Given the description of an element on the screen output the (x, y) to click on. 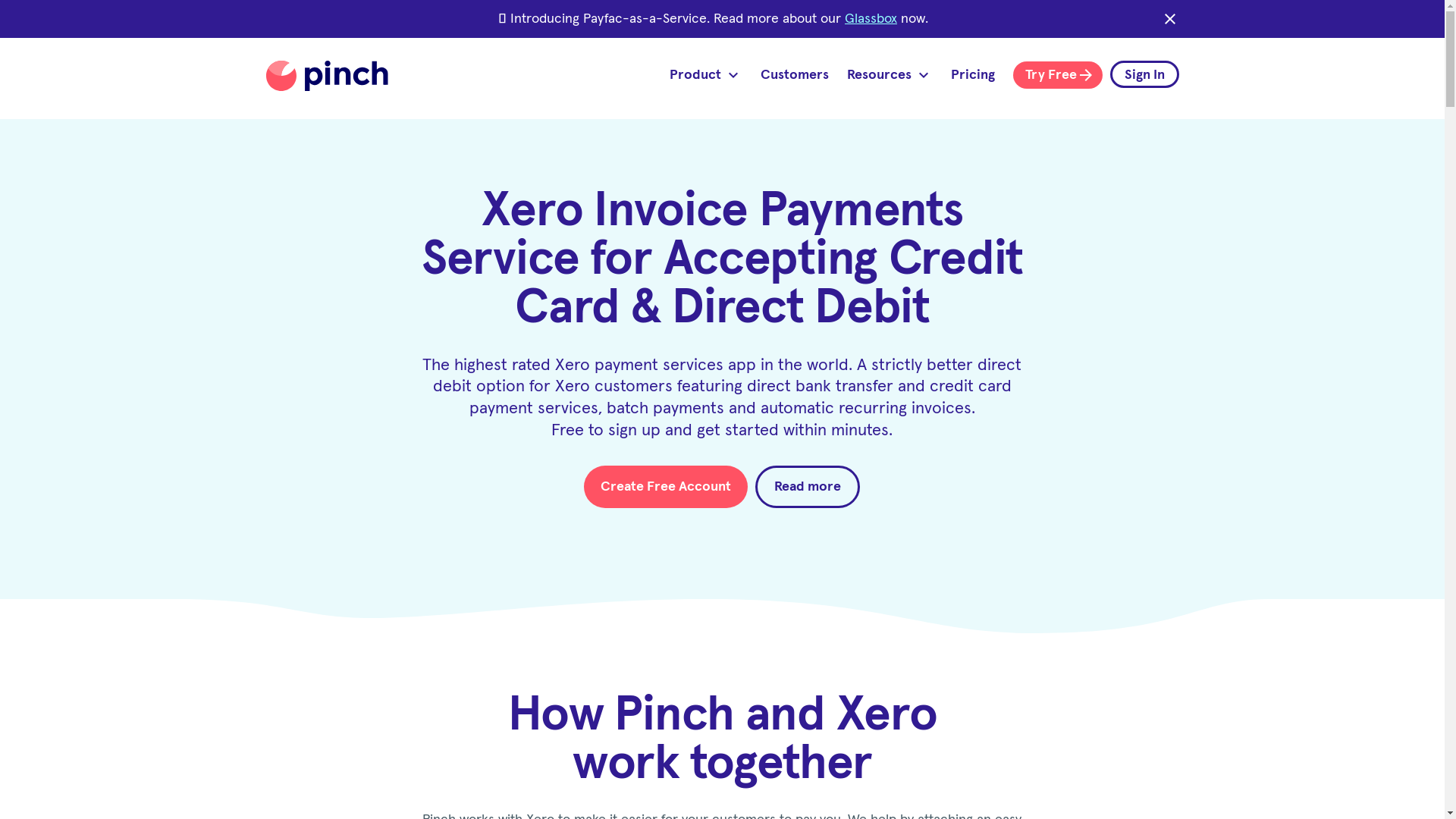
Create Free Account Element type: text (665, 486)
Sign In Element type: text (1144, 73)
Resources expand_more Element type: text (888, 74)
Pricing Element type: text (972, 74)
Read more Element type: text (807, 486)
Try Free
arrow_forward Element type: text (1057, 74)
Product expand_more Element type: text (704, 74)
Customers Element type: text (793, 74)
close Element type: text (1169, 18)
Glassbox Element type: text (870, 18)
